Given the description of an element on the screen output the (x, y) to click on. 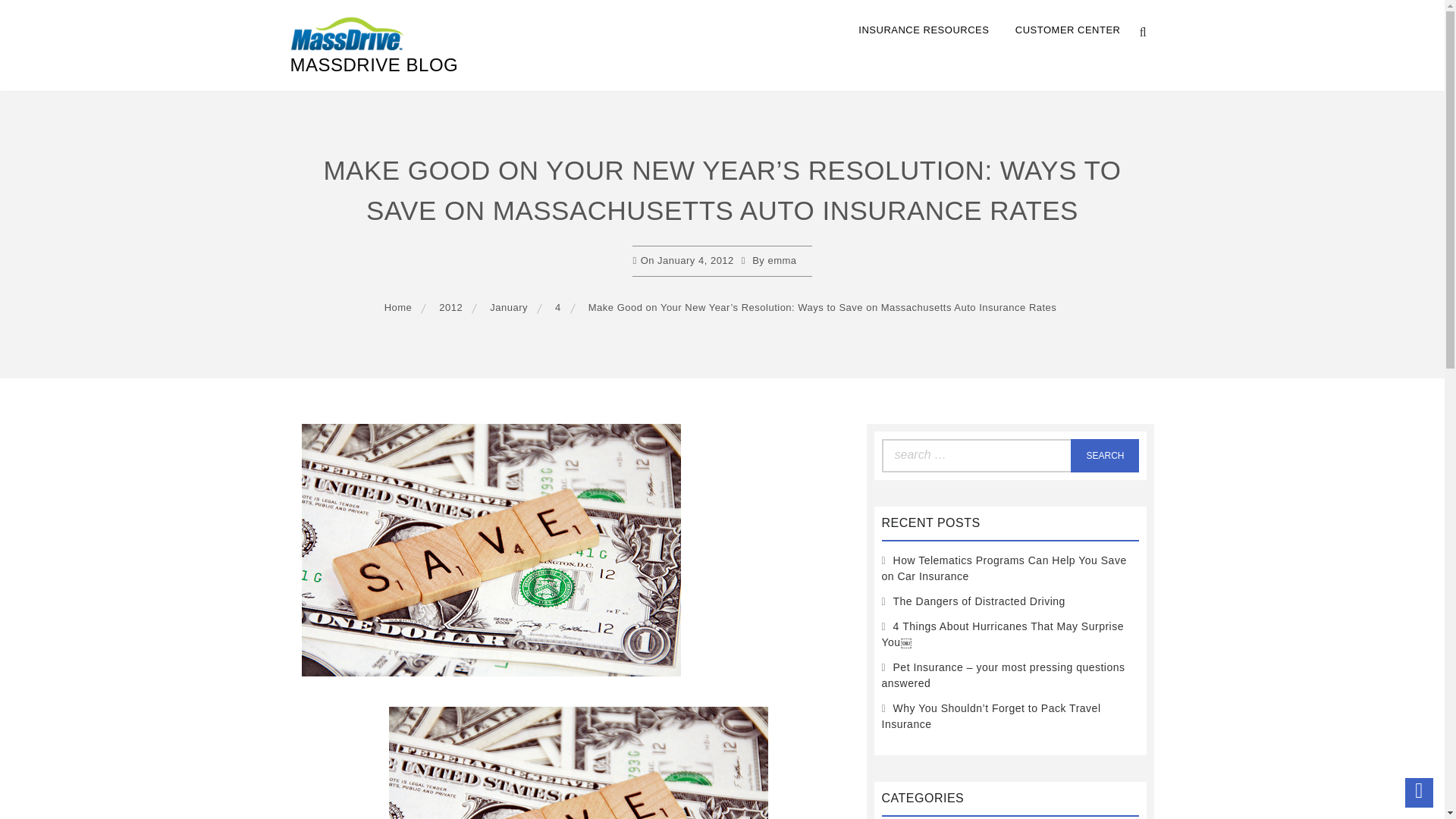
CUSTOMER CENTER (1067, 29)
Home (400, 307)
Search (1104, 455)
Search (1104, 455)
Save on Auto Insurance (577, 762)
How Telematics Programs Can Help You Save on Car Insurance (1002, 568)
January 4, 2012 (695, 260)
Search (1104, 455)
emma (781, 260)
INSURANCE RESOURCES (923, 29)
